Given the description of an element on the screen output the (x, y) to click on. 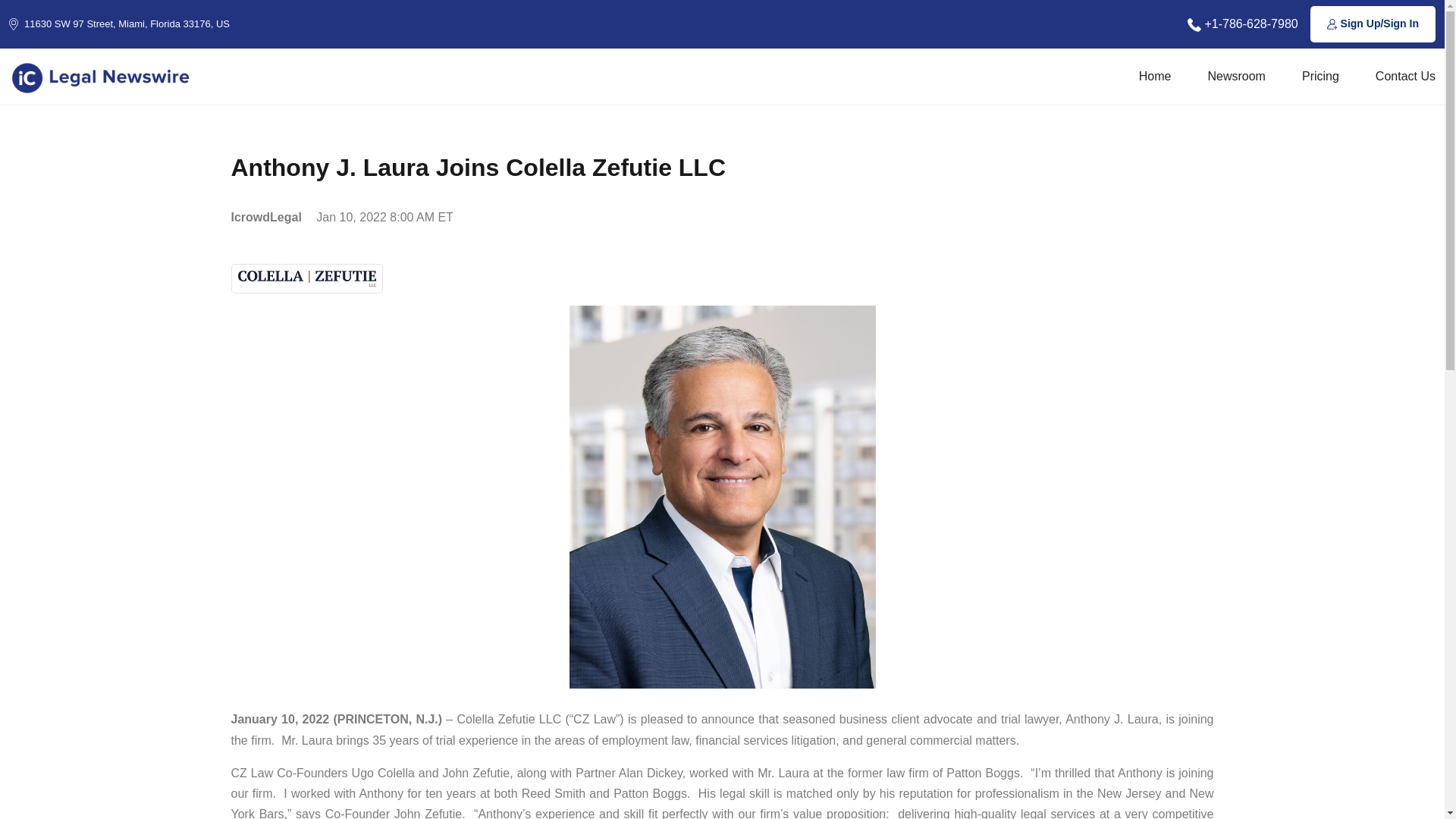
Pricing (1320, 75)
Home (1155, 75)
Newsroom (1236, 75)
Contact Us (1405, 75)
